Given the description of an element on the screen output the (x, y) to click on. 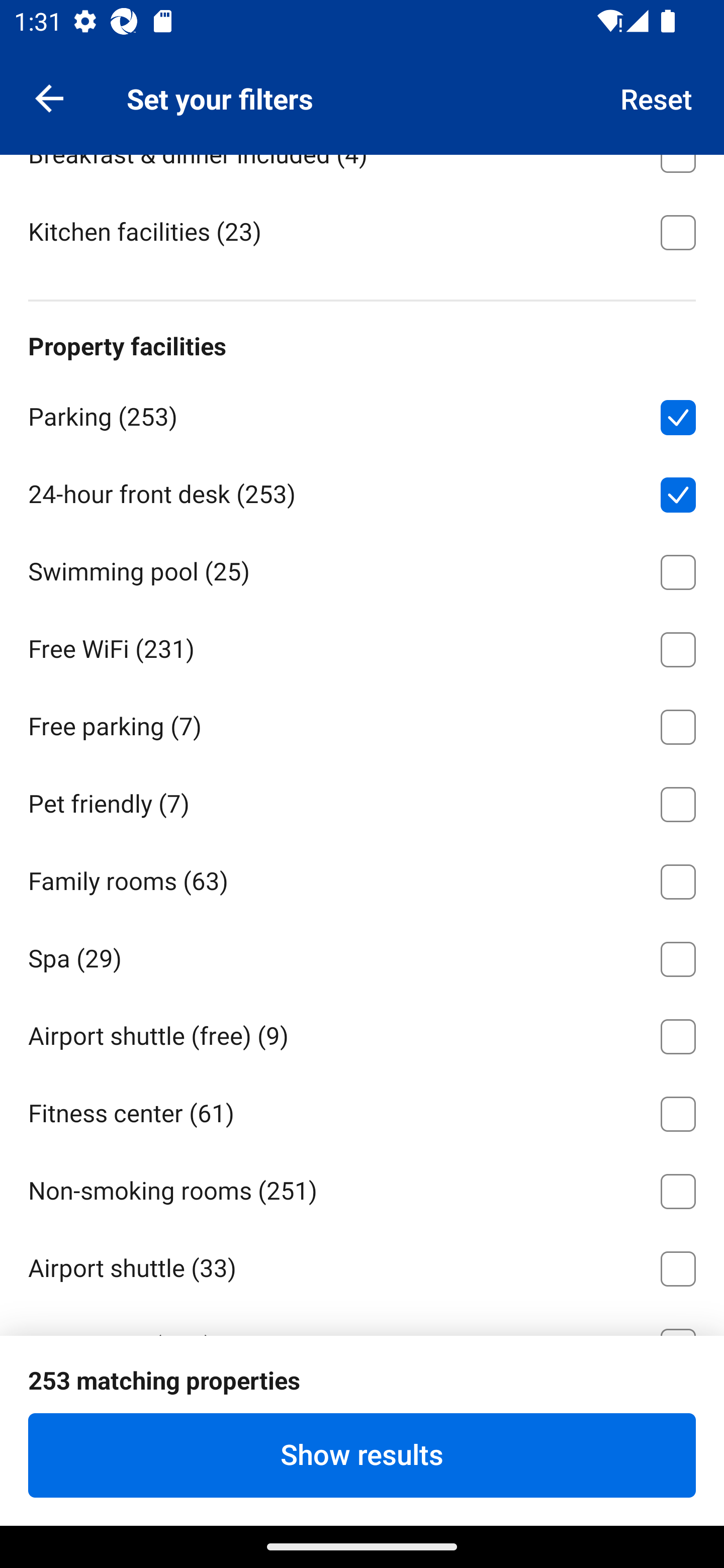
Breakfast Included ⁦(205) (361, 74)
Navigate up (49, 97)
Reset (656, 97)
Kitchen facilities ⁦(23) (361, 230)
Parking ⁦(253) (361, 413)
24-hour front desk ⁦(253) (361, 491)
Swimming pool ⁦(25) (361, 568)
Free WiFi ⁦(231) (361, 646)
Free parking ⁦(7) (361, 723)
Pet friendly ⁦(7) (361, 801)
Family rooms ⁦(63) (361, 878)
Spa ⁦(29) (361, 955)
Airport shuttle (free) ⁦(9) (361, 1033)
Fitness center ⁦(61) (361, 1110)
Non-smoking rooms ⁦(251) (361, 1187)
Airport shuttle ⁦(33) (361, 1265)
Show results (361, 1454)
